Given the description of an element on the screen output the (x, y) to click on. 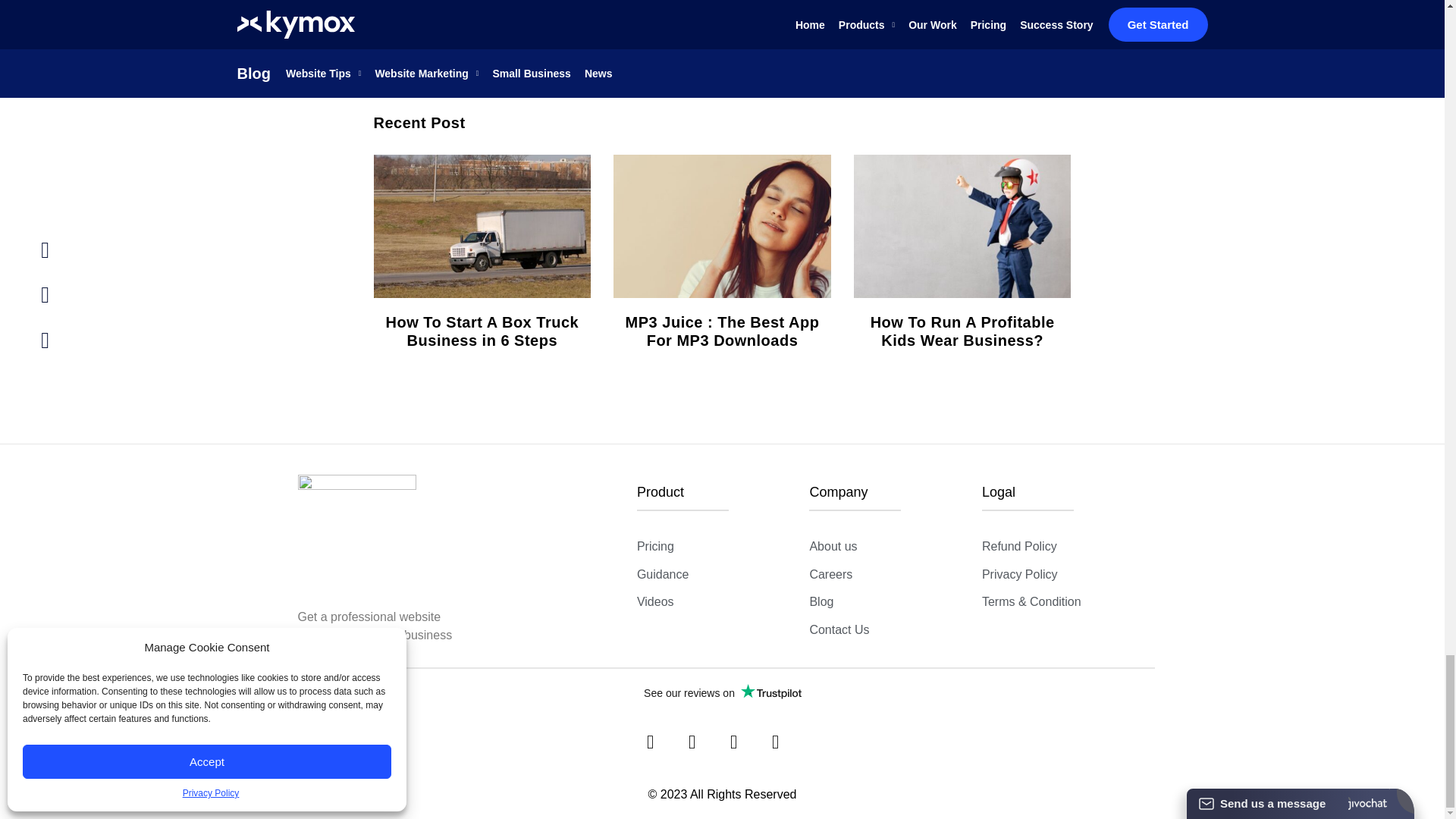
Customer reviews powered by Trustpilot (721, 692)
Insert PHP Snippet Wordpress Plugin (664, 801)
